Given the description of an element on the screen output the (x, y) to click on. 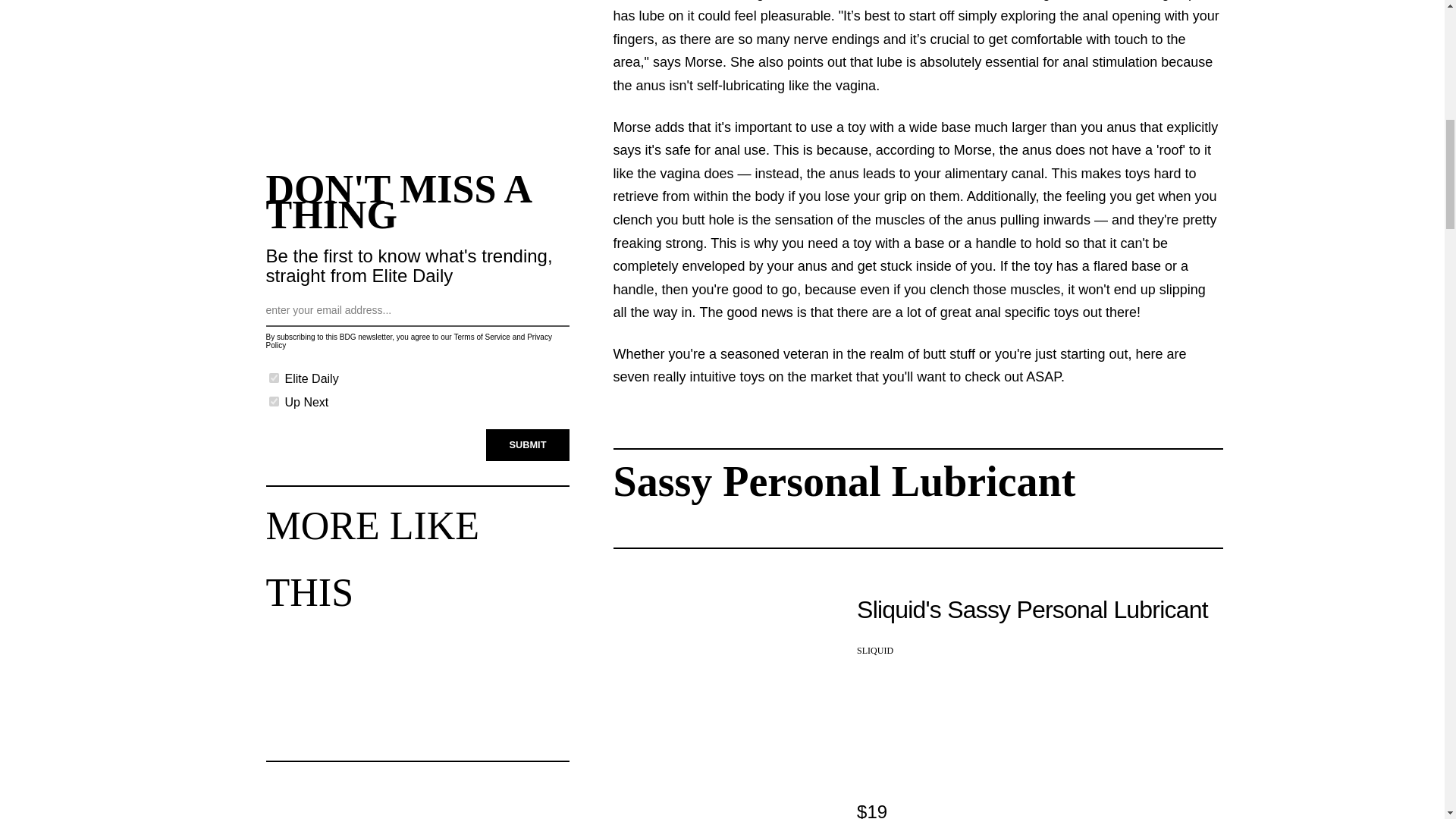
Privacy Policy (407, 340)
SUBMIT (527, 445)
Terms of Service (480, 336)
